Given the description of an element on the screen output the (x, y) to click on. 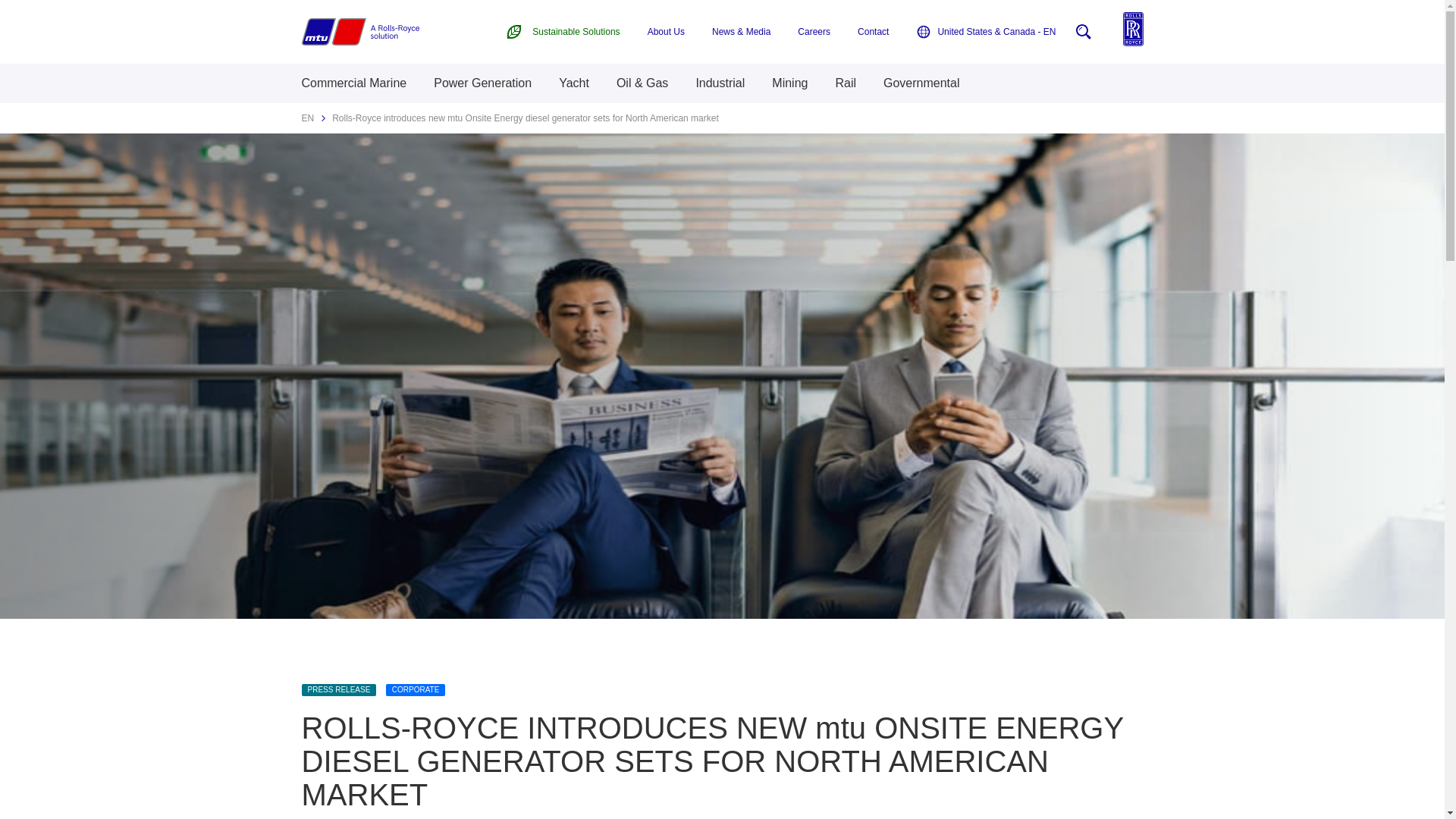
Commercial Marine (354, 83)
Home (360, 31)
